Given the description of an element on the screen output the (x, y) to click on. 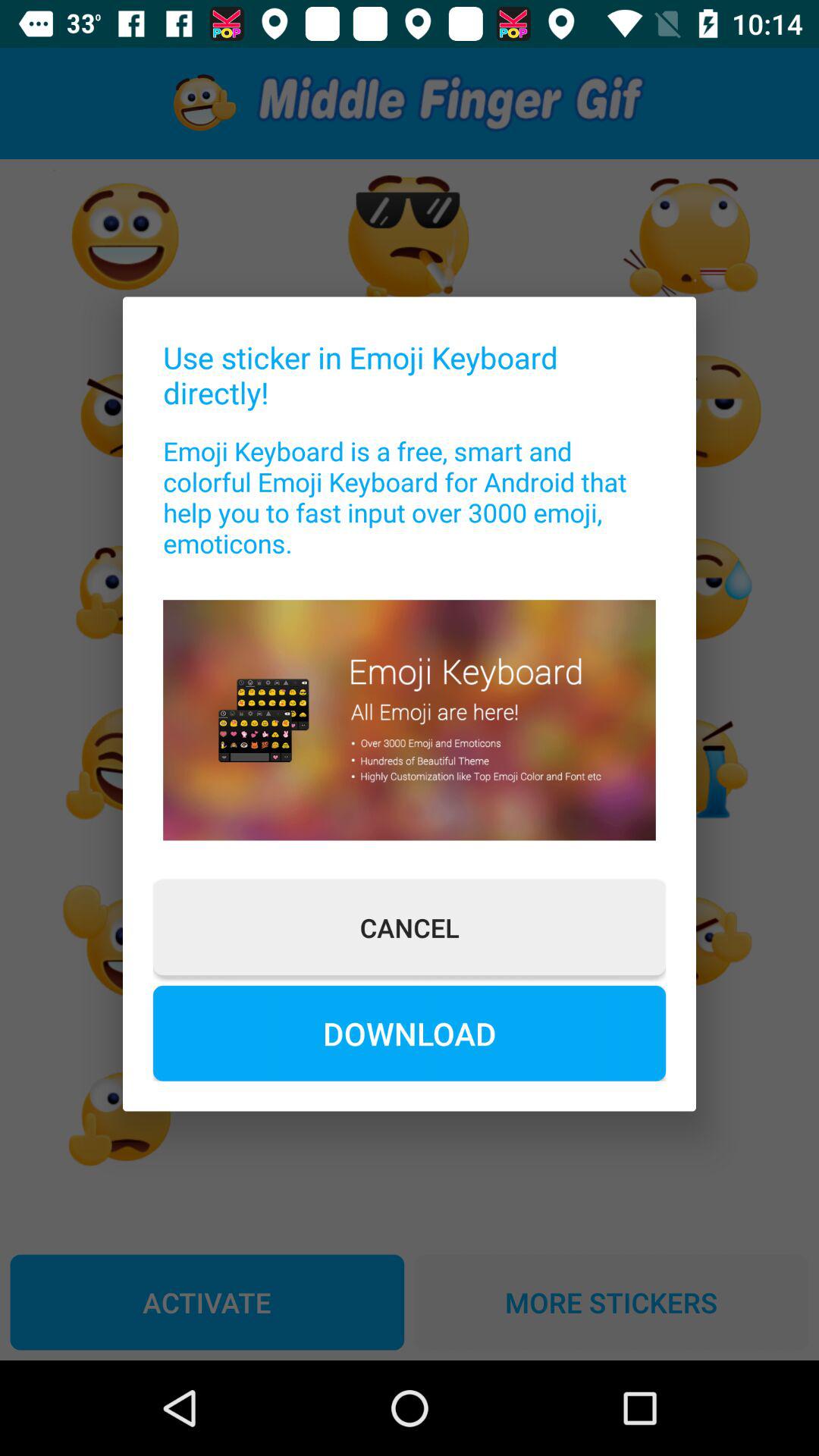
flip to the download item (409, 1033)
